Given the description of an element on the screen output the (x, y) to click on. 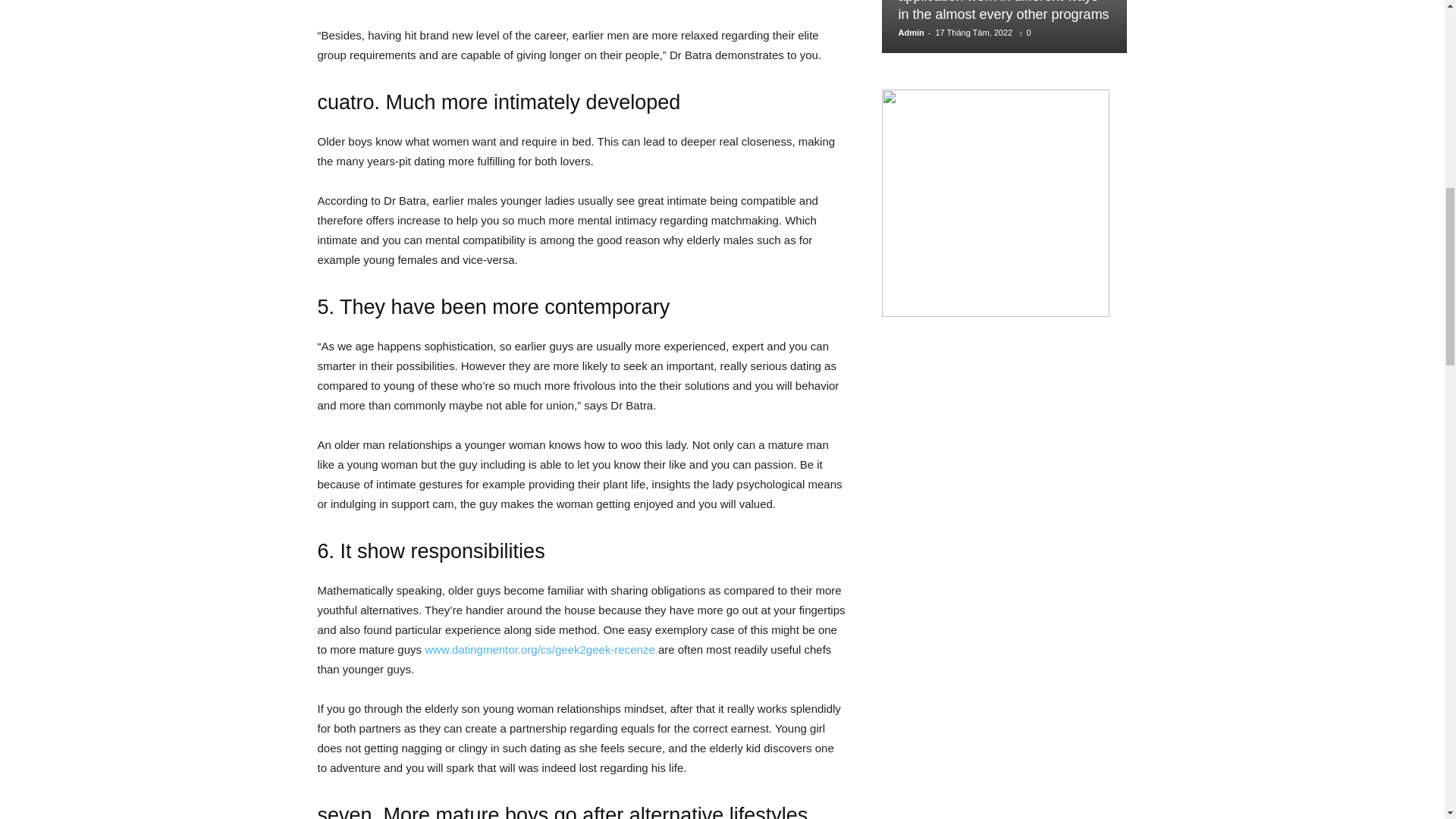
Admin (910, 31)
